Given the description of an element on the screen output the (x, y) to click on. 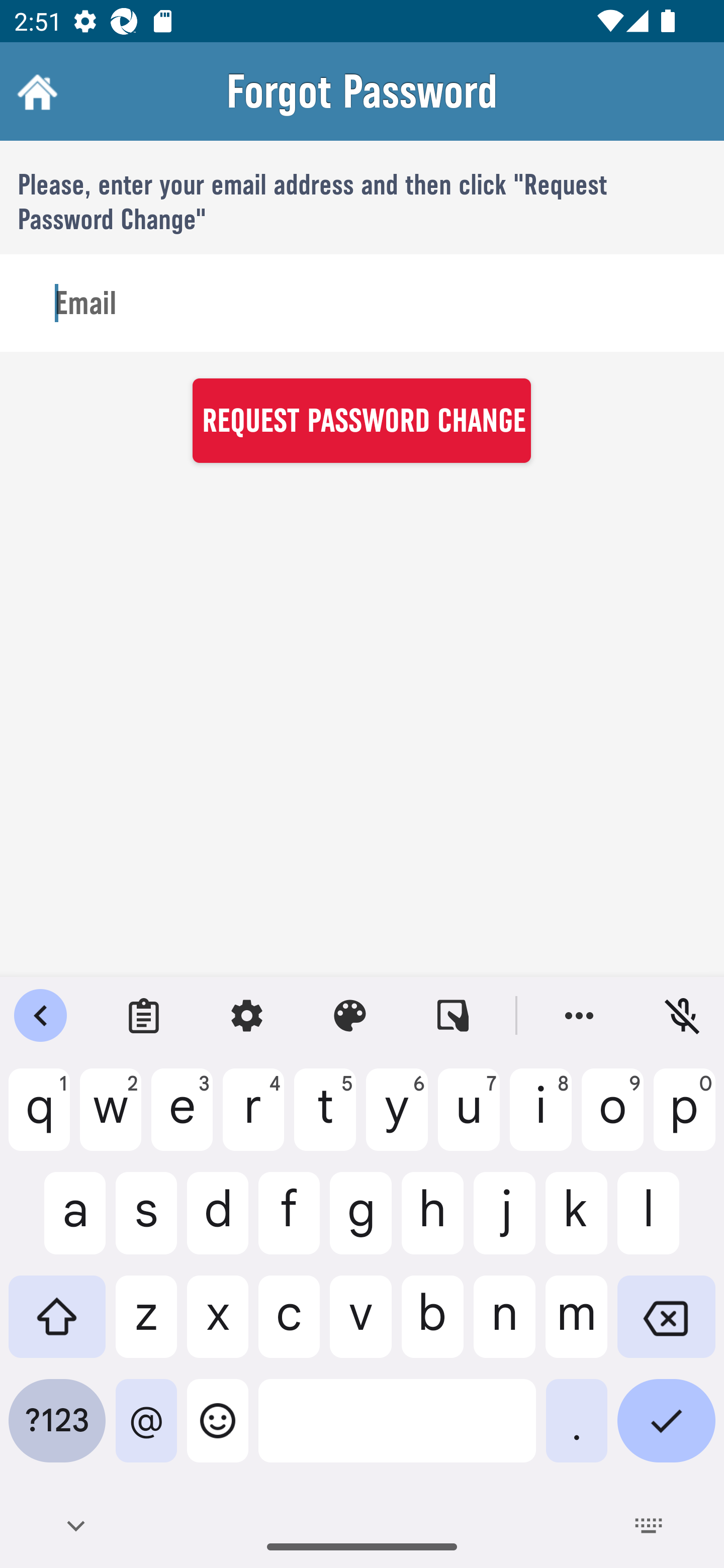
Home (35, 91)
Email (361, 303)
REQUEST PASSWORD CHANGE (361, 419)
